Given the description of an element on the screen output the (x, y) to click on. 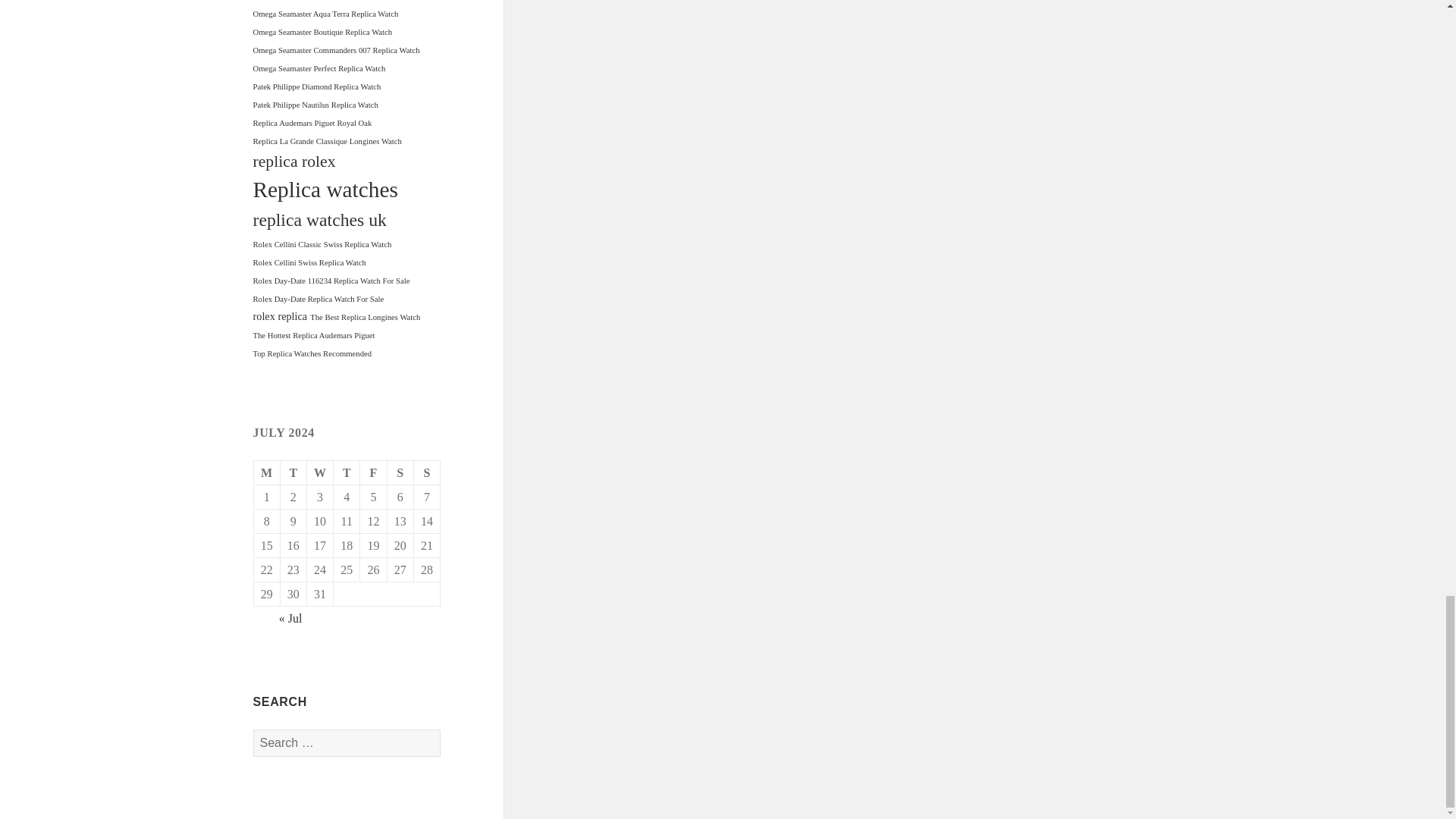
Sunday (427, 473)
Friday (373, 473)
Monday (267, 473)
Saturday (400, 473)
Tuesday (294, 473)
Wednesday (320, 473)
Thursday (346, 473)
